Given the description of an element on the screen output the (x, y) to click on. 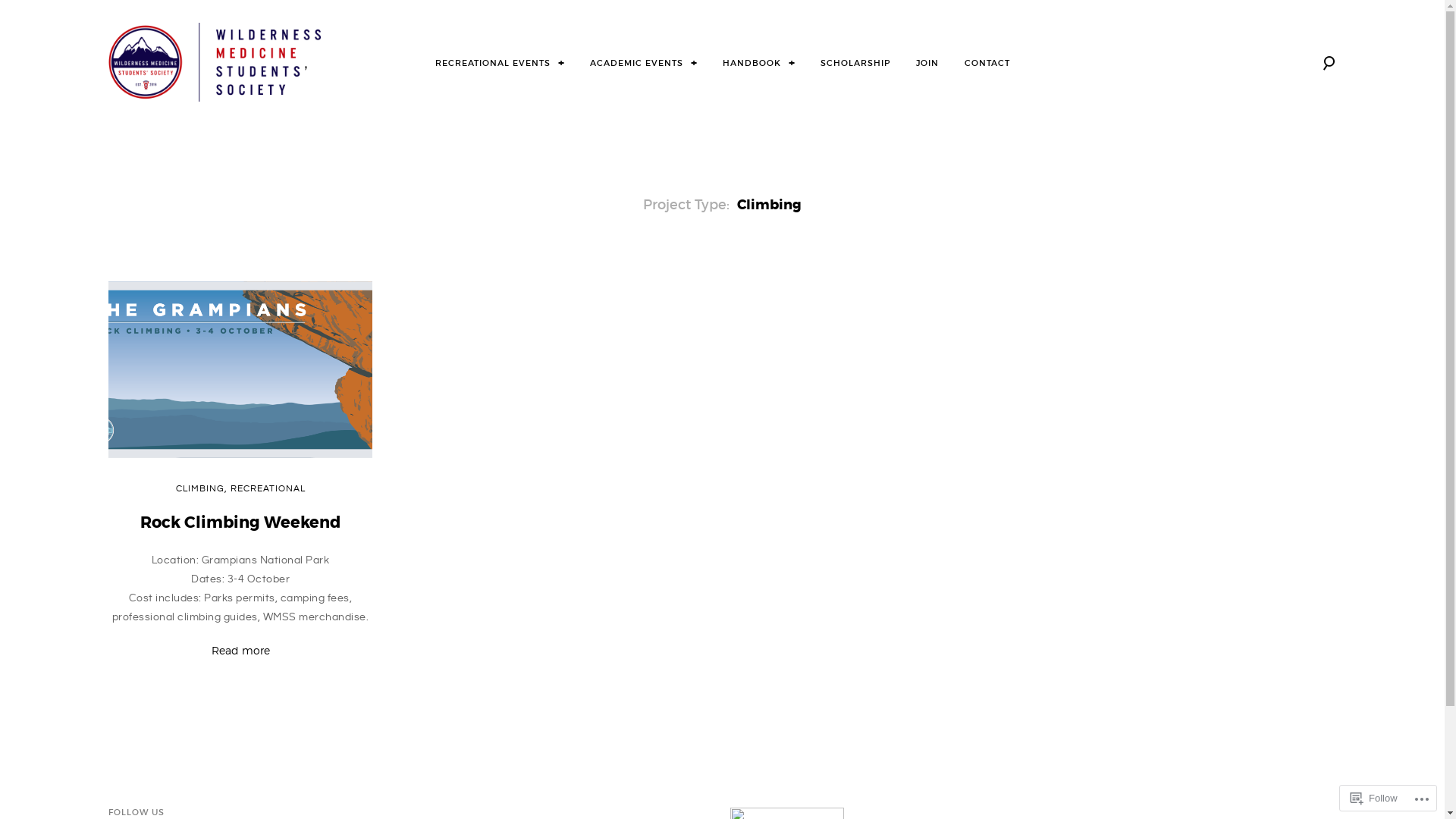
HANDBOOK Element type: text (750, 62)
ACADEMIC EVENTS Element type: text (636, 62)
+ Element type: text (693, 62)
Rock Climbing Weekend Element type: text (239, 522)
Search Element type: text (45, 18)
CLIMBING Element type: text (199, 488)
+ Element type: text (791, 62)
Wilderness Medicine Students Society Element type: text (299, 115)
RECREATIONAL EVENTS Element type: text (492, 62)
RECREATIONAL Element type: text (266, 488)
Read more Element type: text (239, 650)
+ Element type: text (561, 62)
JOIN Element type: text (927, 62)
CONTACT Element type: text (987, 62)
Follow Element type: text (1373, 797)
SCHOLARSHIP Element type: text (855, 62)
